Given the description of an element on the screen output the (x, y) to click on. 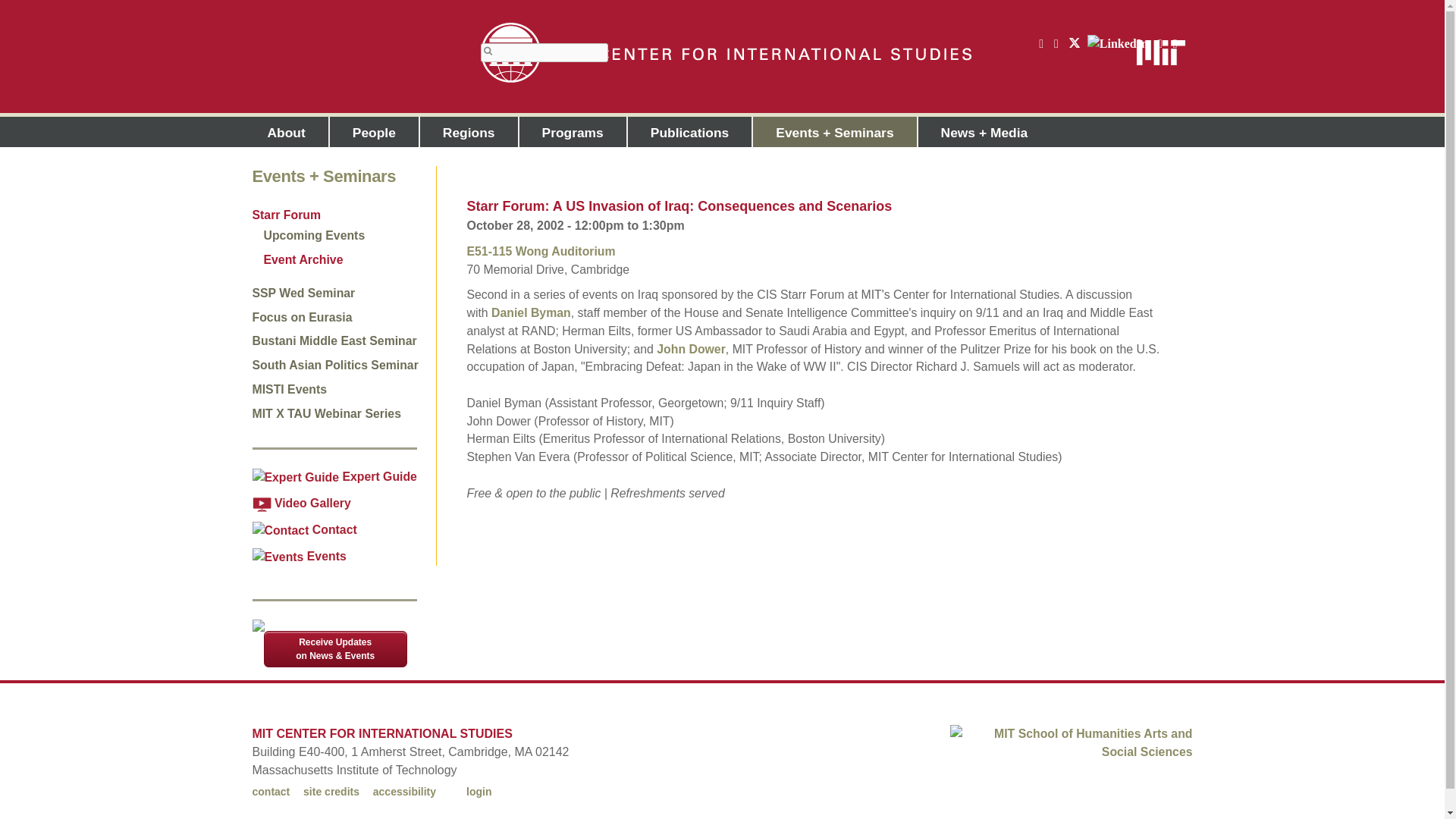
Regions (469, 132)
About (285, 132)
Home page (725, 52)
Publications (689, 132)
Search (488, 50)
Enter the terms you wish to search for. (544, 53)
Search (488, 50)
Programs (572, 132)
People (374, 132)
